Given the description of an element on the screen output the (x, y) to click on. 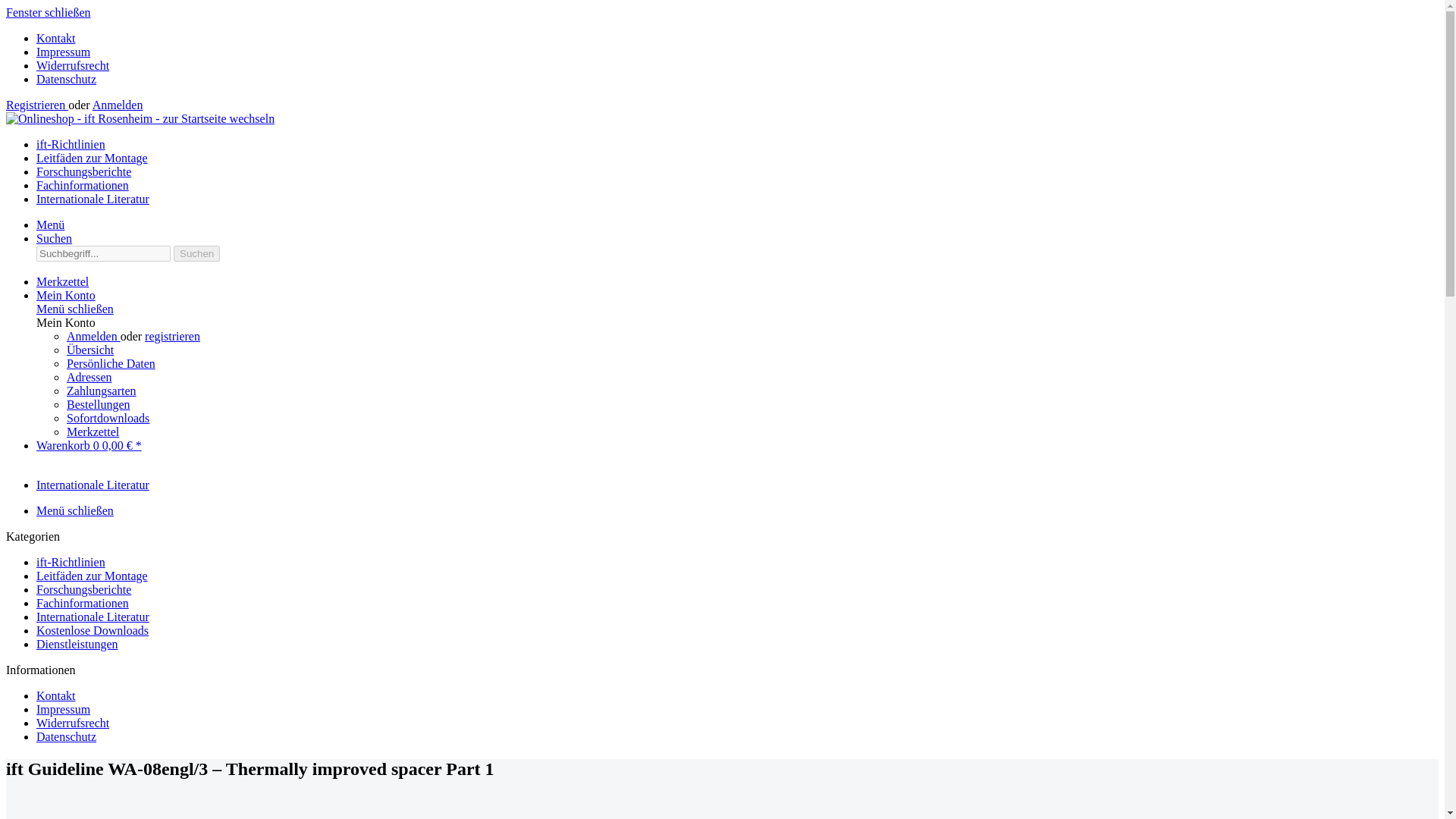
Anmelden (93, 336)
Merkzettel (92, 431)
Widerrufsrecht (72, 65)
Kostenlose Downloads (92, 630)
Registrieren (36, 104)
Kontakt (55, 38)
Impressum (63, 51)
Internationale Literatur (92, 198)
Adressen (89, 377)
Internationale Literatur (92, 198)
Registrieren (36, 104)
Datenschutz (66, 78)
Kontakt (55, 38)
Forschungsberichte (83, 171)
Merkzettel (62, 281)
